Given the description of an element on the screen output the (x, y) to click on. 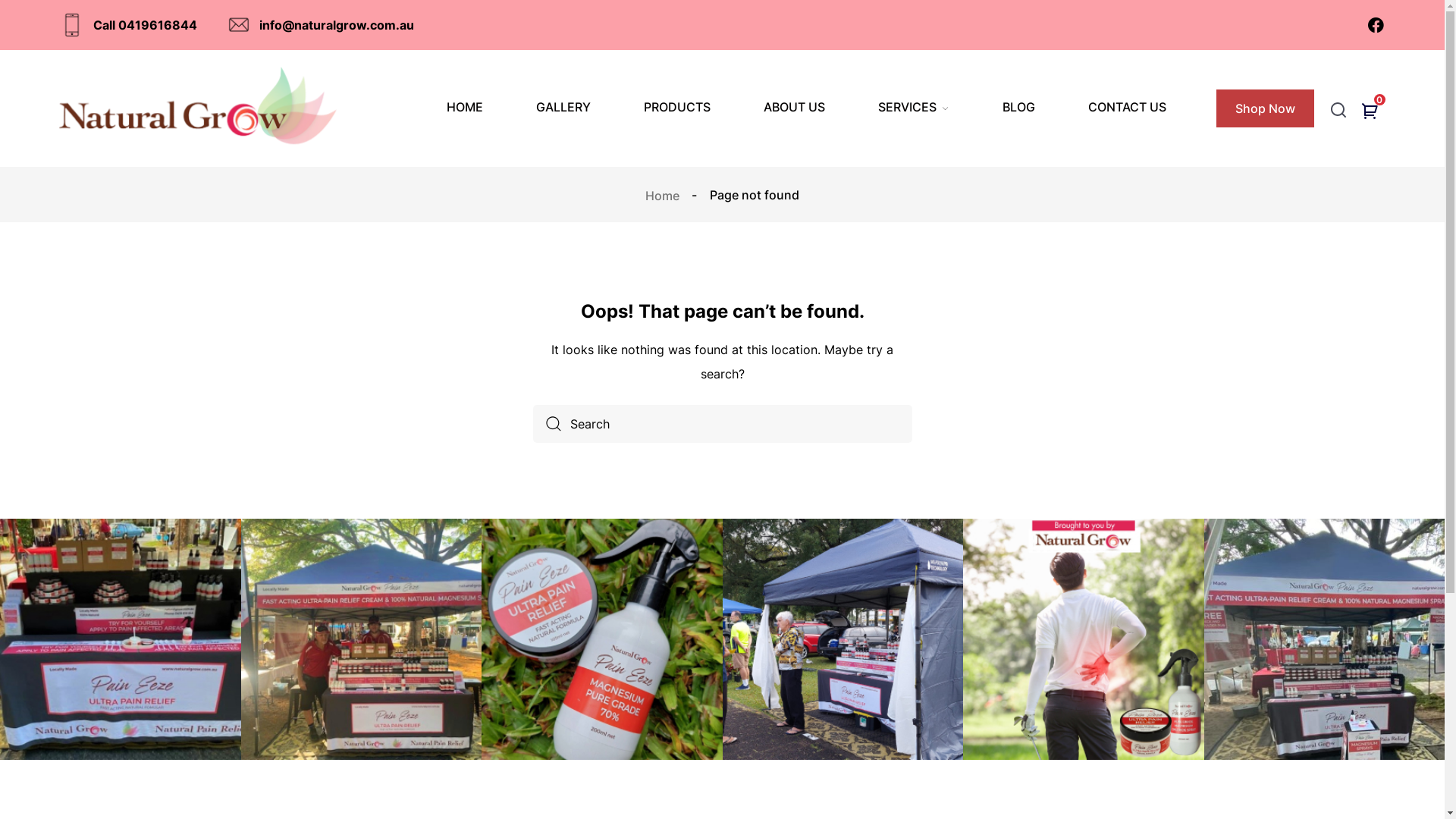
Shop Now Element type: text (1265, 108)
info@naturalgrow.com.au Element type: text (320, 24)
GALLERY Element type: text (563, 106)
SERVICES Element type: text (913, 107)
Rectangle 4937 1 Element type: hover (1324, 638)
PRODUCTS Element type: text (676, 106)
Rectangle 58 Element type: hover (361, 638)
HOME Element type: text (464, 106)
Rectangle 60 Element type: hover (842, 638)
Rectangle 59 Element type: hover (601, 638)
Call 0419616844 Element type: text (128, 24)
0 Element type: text (1372, 112)
Login Element type: text (721, 470)
CONTACT US Element type: text (1127, 106)
Rectangle 57 Element type: hover (120, 638)
Home Element type: text (663, 194)
Rectangle 61 Element type: hover (1083, 638)
ABOUT US Element type: text (794, 106)
BLOG Element type: text (1018, 106)
